Given the description of an element on the screen output the (x, y) to click on. 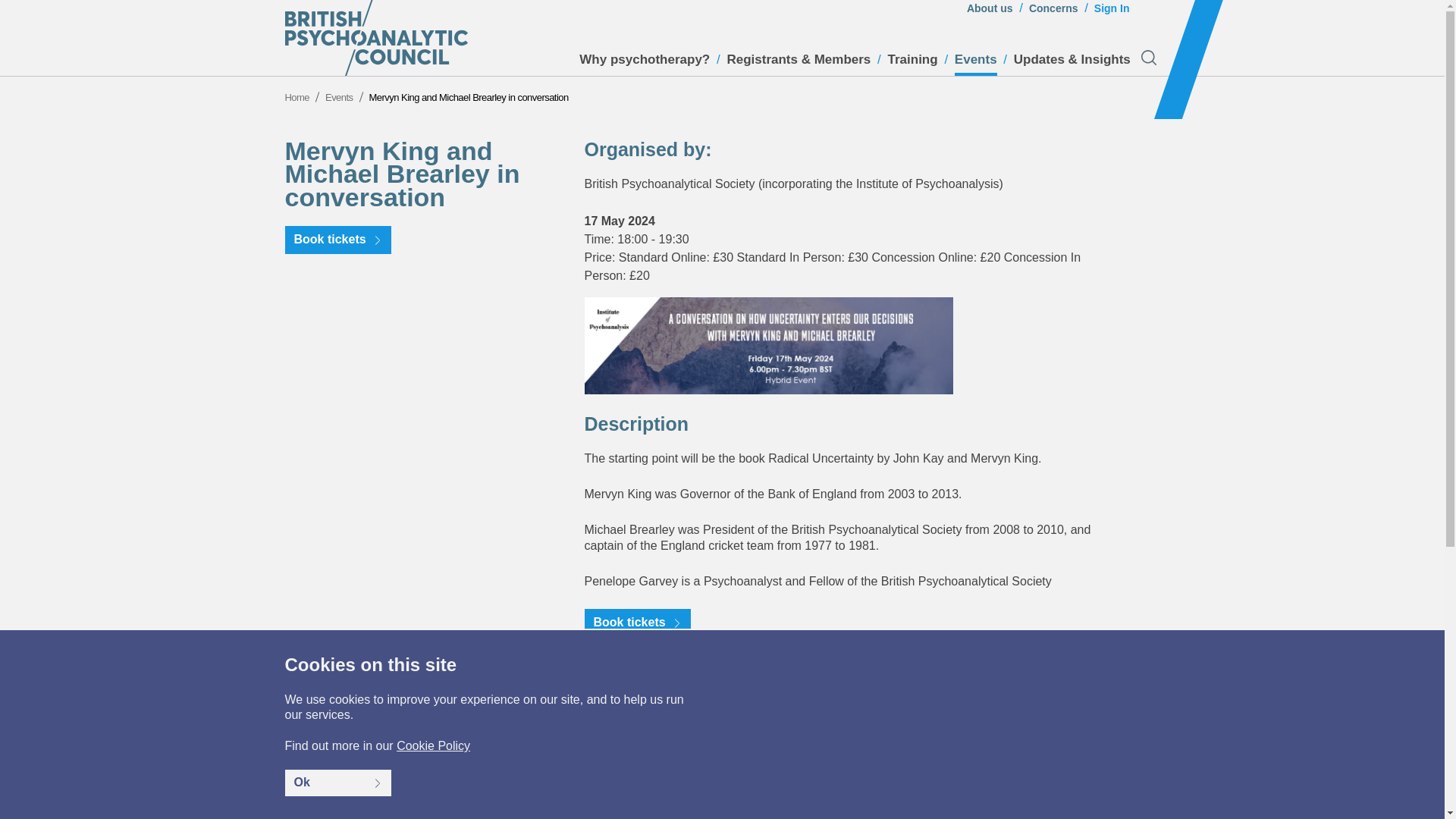
Concerns (1053, 12)
Why psychotherapy? (644, 63)
Home (297, 97)
Mervyn King and Michael Brearley in conversation (469, 97)
BACK TO TOP (1104, 810)
Read more (1107, 694)
Events (338, 97)
Training (912, 63)
About us (989, 12)
Events (976, 63)
Sign In (1111, 12)
Book tickets (338, 240)
Book tickets (636, 623)
